Given the description of an element on the screen output the (x, y) to click on. 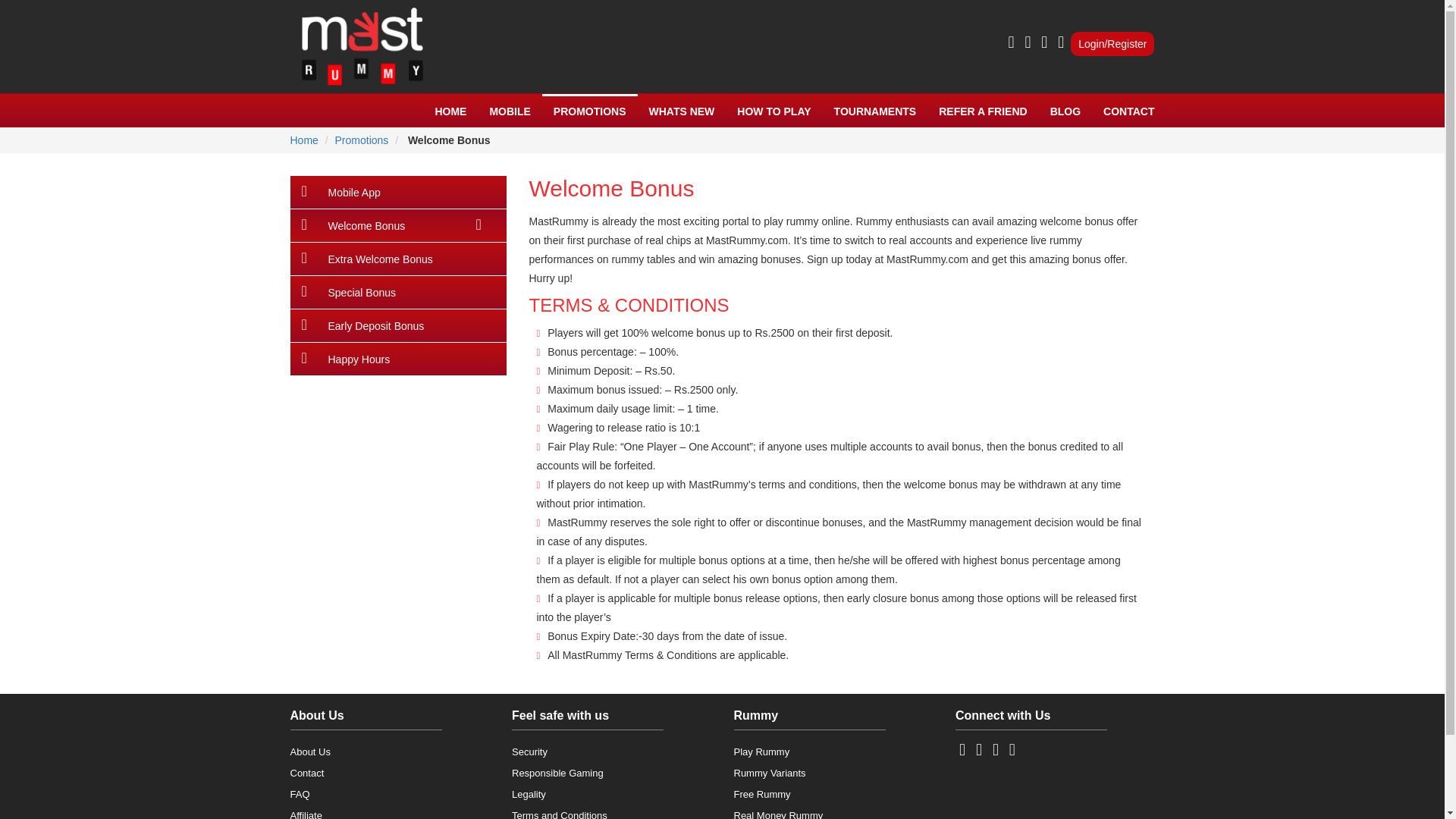
Responsible Gaming (558, 772)
WHATS NEW (681, 111)
Welcome Bonus (447, 140)
Home (303, 140)
HOME (450, 111)
Affiliate (305, 814)
Free Rummy (761, 794)
Happy Hours (398, 359)
FAQ (298, 794)
CONTACT (1123, 111)
